Given the description of an element on the screen output the (x, y) to click on. 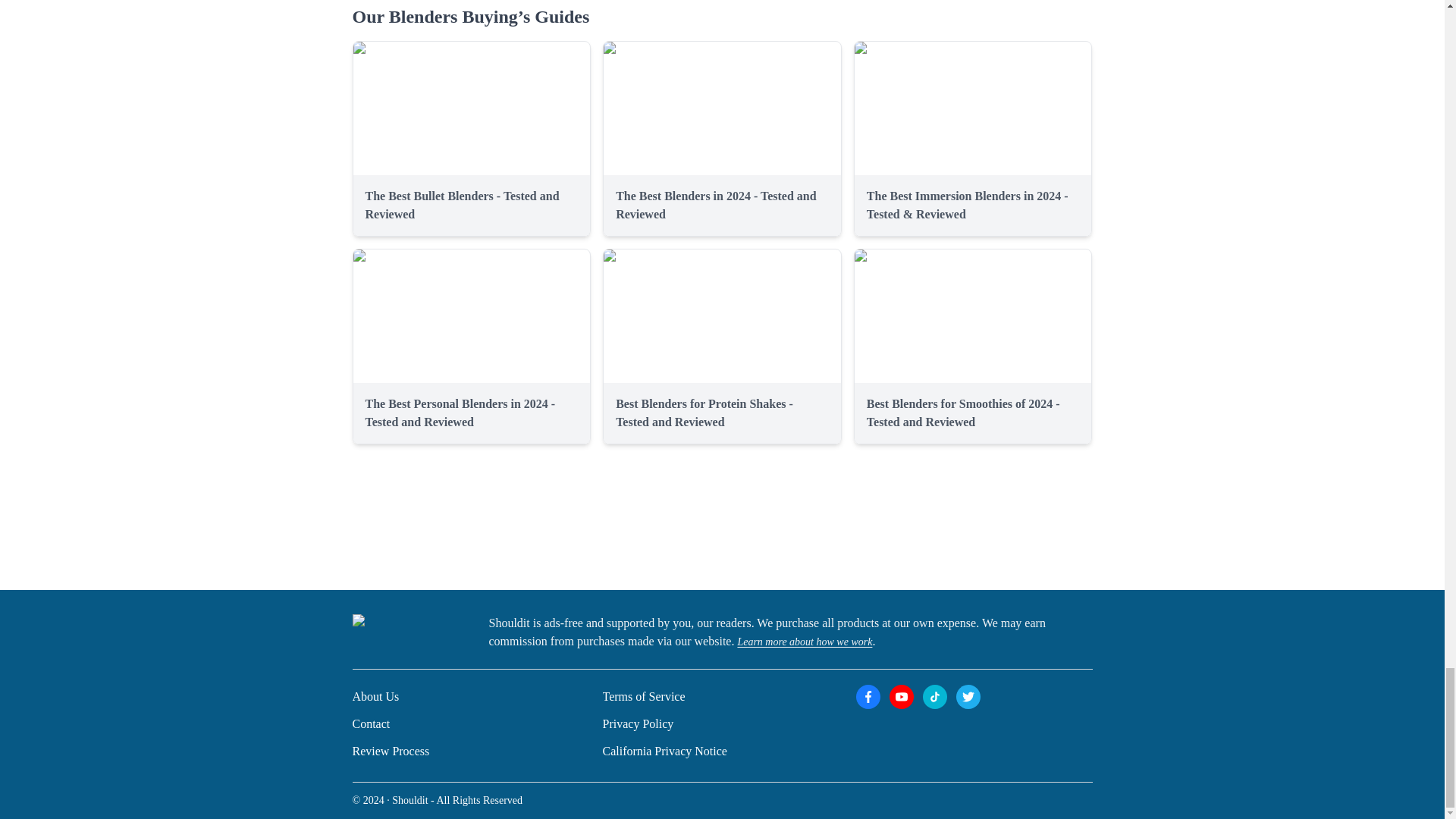
The Best Blenders in 2024 - Tested and Reviewed (715, 204)
The Best Bullet Blenders - Tested and Reviewed (462, 204)
The Best Personal Blenders in 2024 - Tested and Reviewed (460, 412)
Best Blenders for Protein Shakes - Tested and Reviewed (704, 412)
